Given the description of an element on the screen output the (x, y) to click on. 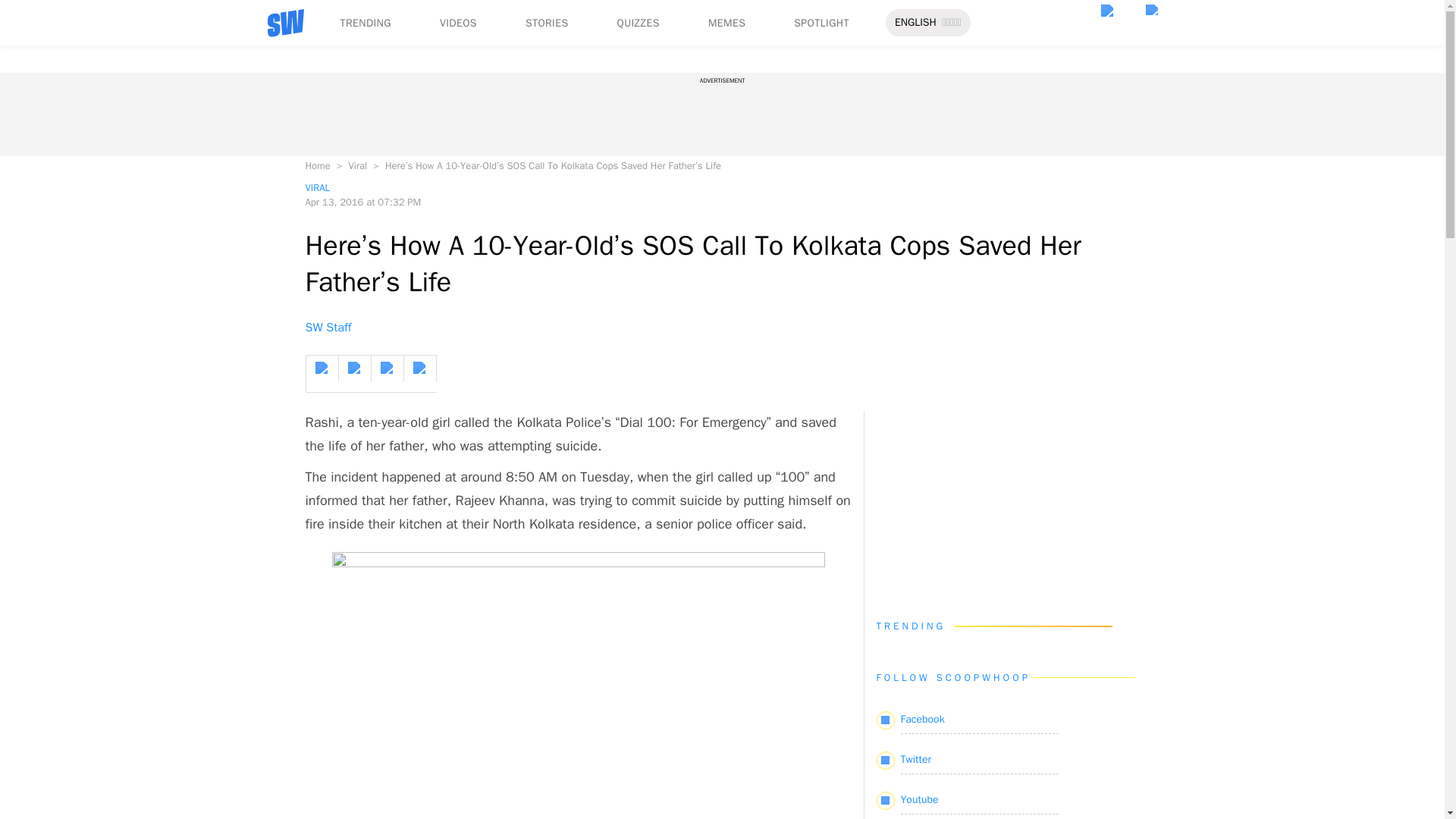
STORIES (547, 22)
VIDEOS (458, 22)
SPOTLIGHT (820, 22)
MEMES (726, 22)
ENGLISH (915, 22)
TRENDING (364, 22)
QUIZZES (638, 22)
